Given the description of an element on the screen output the (x, y) to click on. 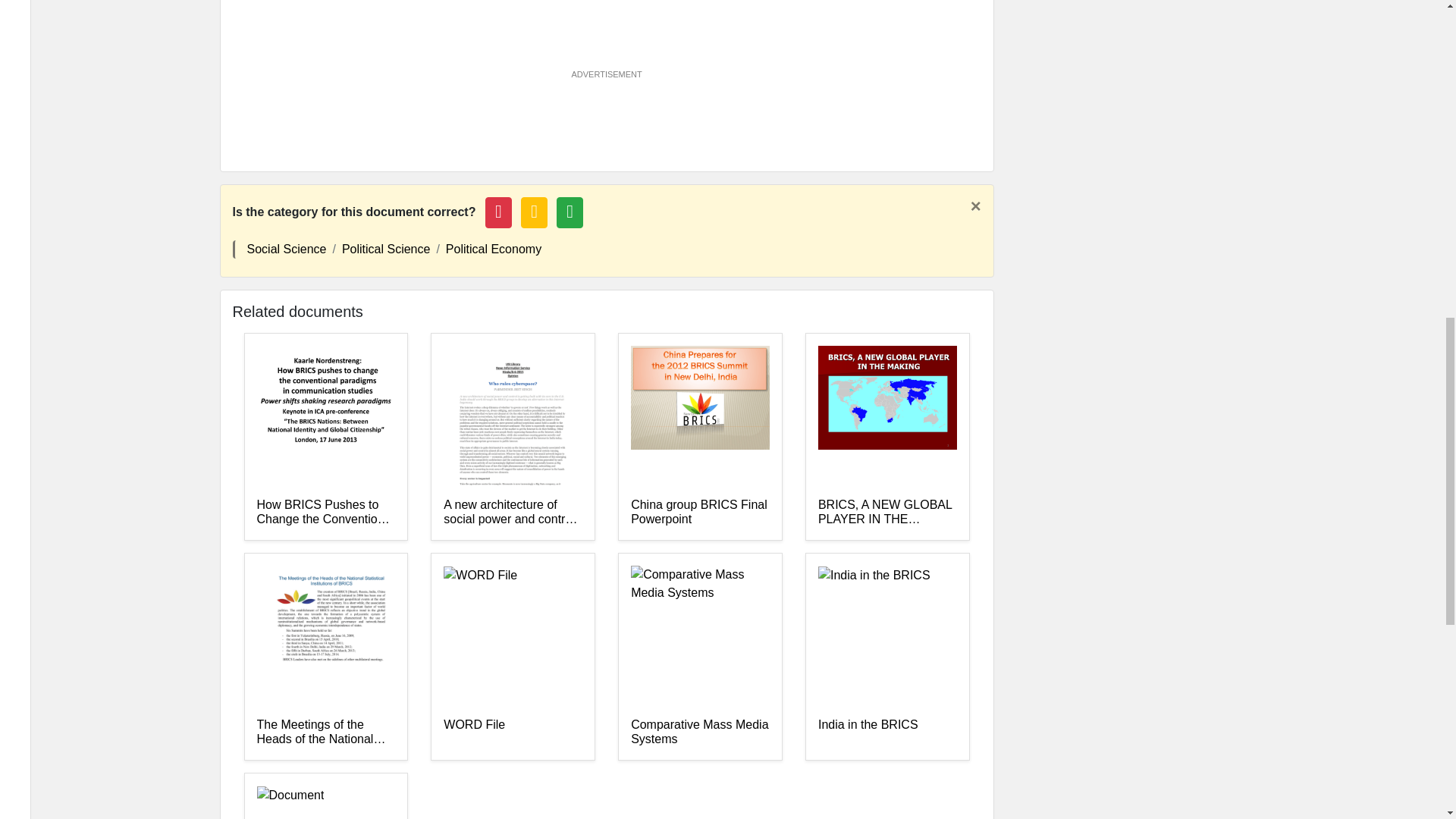
WORD File (513, 732)
India in the BRICS (887, 732)
Social Science (286, 248)
China group BRICS Final Powerpoint (700, 512)
BRICS, A NEW GLOBAL PLAYER IN THE MAKING (887, 512)
How BRICS Pushes to Change the Conventional Paradigms in (325, 512)
Comparative Mass Media Systems (700, 732)
Political Science (386, 248)
